Given the description of an element on the screen output the (x, y) to click on. 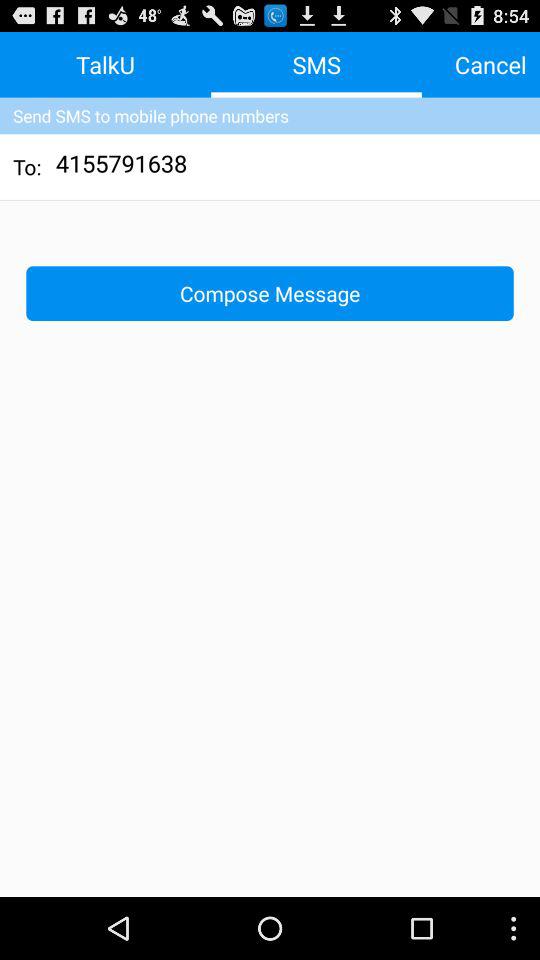
select the cancel (490, 64)
